Given the description of an element on the screen output the (x, y) to click on. 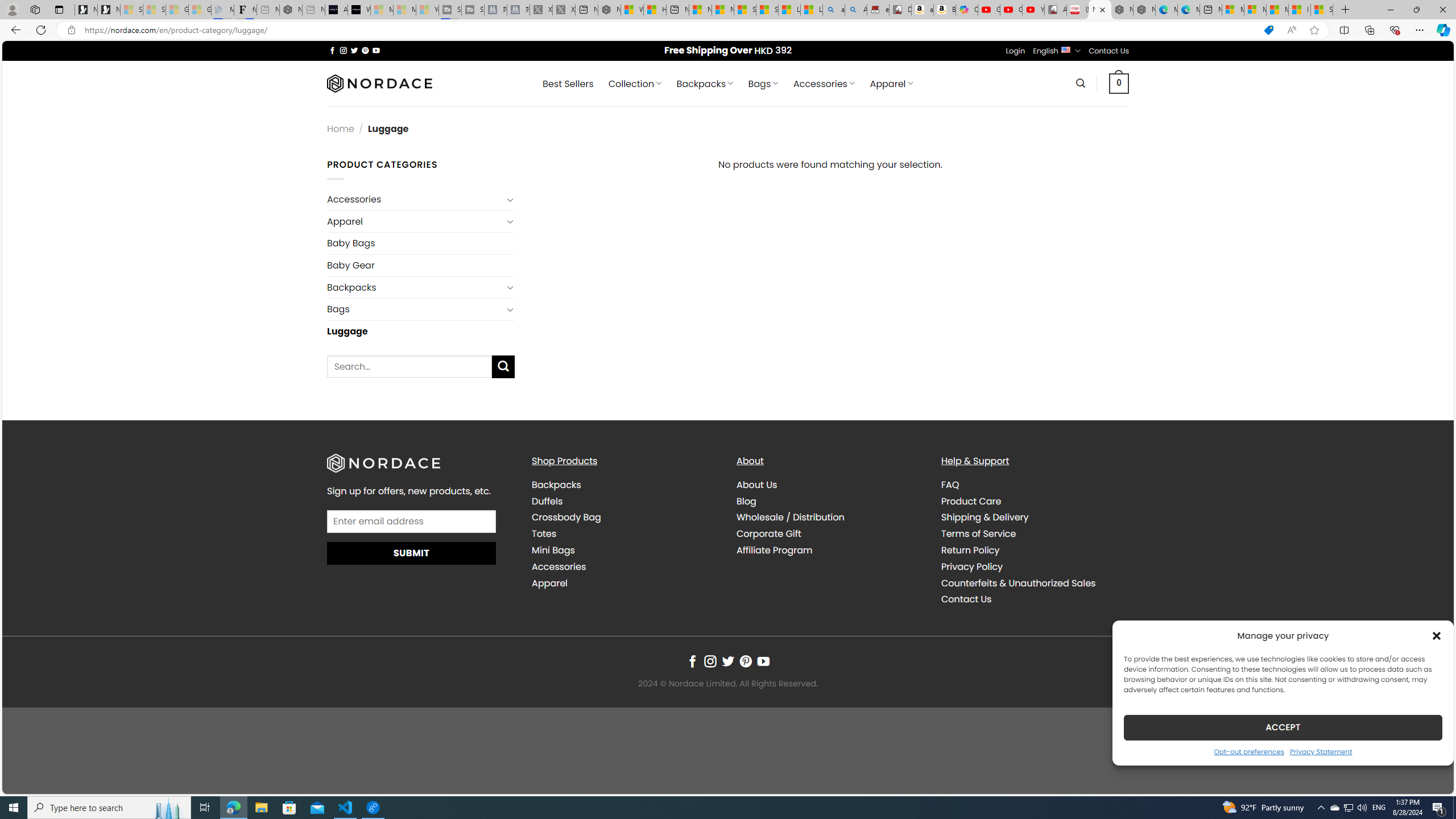
  0   (1118, 83)
Counterfeits & Unauthorized Sales (1034, 583)
Microsoft account | Privacy (1255, 9)
Backpacks (555, 484)
Home (340, 128)
Address and search bar (669, 29)
Crossbody Bag (625, 517)
Wildlife - MSN (631, 9)
Wholesale / Distribution (790, 517)
